Given the description of an element on the screen output the (x, y) to click on. 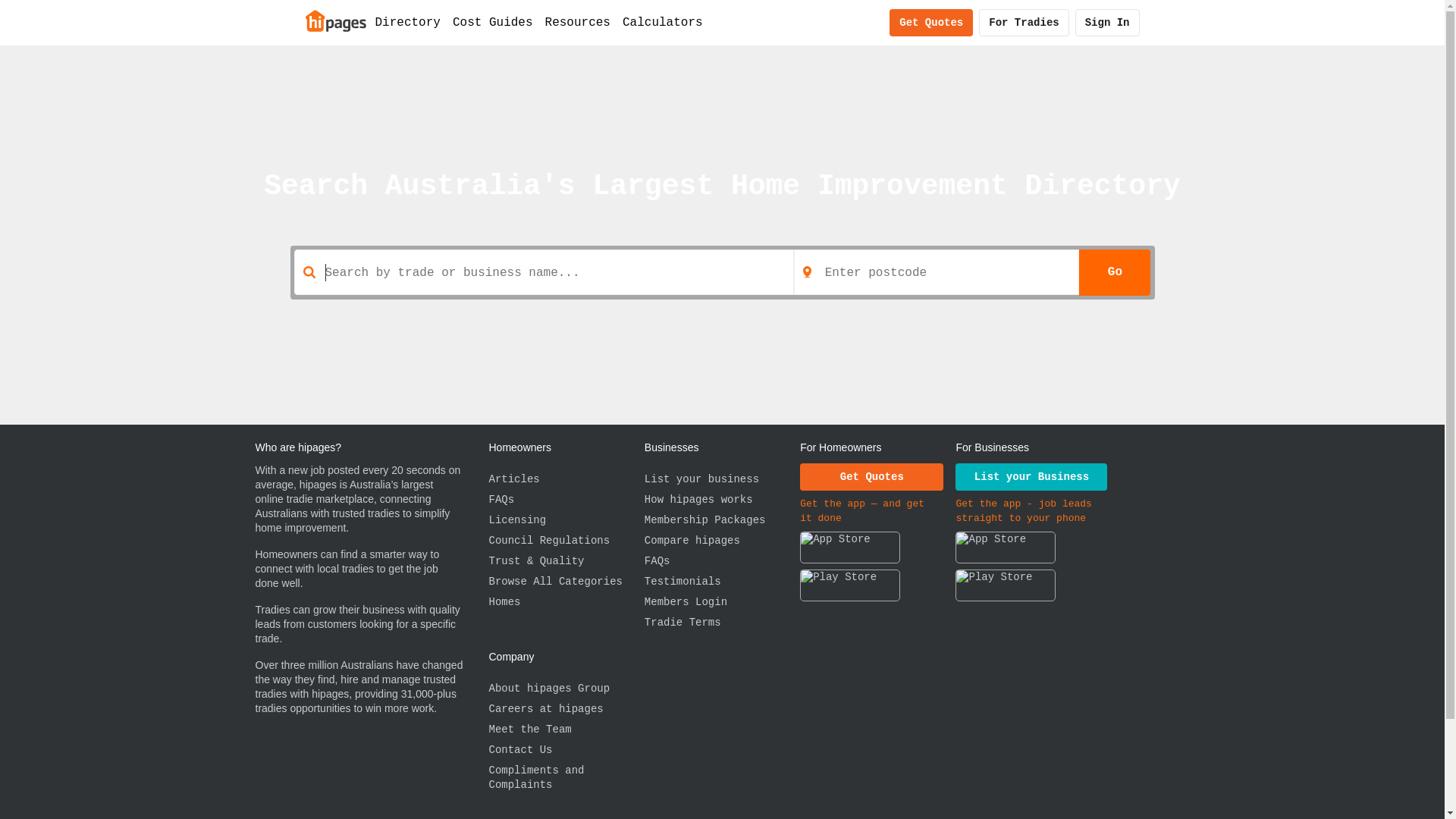
Sign In Element type: text (1107, 22)
How hipages works Element type: text (722, 499)
Homes Element type: text (565, 602)
Download the hipages app on Google Play Element type: hover (1005, 588)
Go Element type: text (1114, 271)
For Tradies Element type: text (1023, 22)
Resources Element type: text (577, 22)
About hipages Group Element type: text (565, 688)
Meet the Team Element type: text (565, 729)
Licensing Element type: text (565, 520)
Download the hipages app on Google Play Element type: hover (850, 588)
FAQs Element type: text (565, 499)
Get Quotes Element type: text (930, 22)
Tradie Terms Element type: text (722, 622)
Browse All Categories Element type: text (565, 581)
Members Login Element type: text (722, 602)
Home Element type: hover (334, 20)
Directory Element type: text (406, 22)
Download the hipages app on the App Store Element type: hover (850, 550)
Download the hipages app on the App Store Element type: hover (1005, 550)
Testimonials Element type: text (722, 581)
FAQs Element type: text (722, 561)
Membership Packages Element type: text (722, 520)
Compare hipages Element type: text (722, 540)
Get Quotes Element type: text (871, 476)
Council Regulations Element type: text (565, 540)
Compliments and Complaints Element type: text (565, 777)
List your business Element type: text (722, 479)
Calculators Element type: text (662, 22)
List your Business Element type: text (1031, 476)
Cost Guides Element type: text (492, 22)
Contact Us Element type: text (565, 750)
Trust & Quality Element type: text (565, 561)
Articles Element type: text (565, 479)
Careers at hipages Element type: text (565, 709)
